Given the description of an element on the screen output the (x, y) to click on. 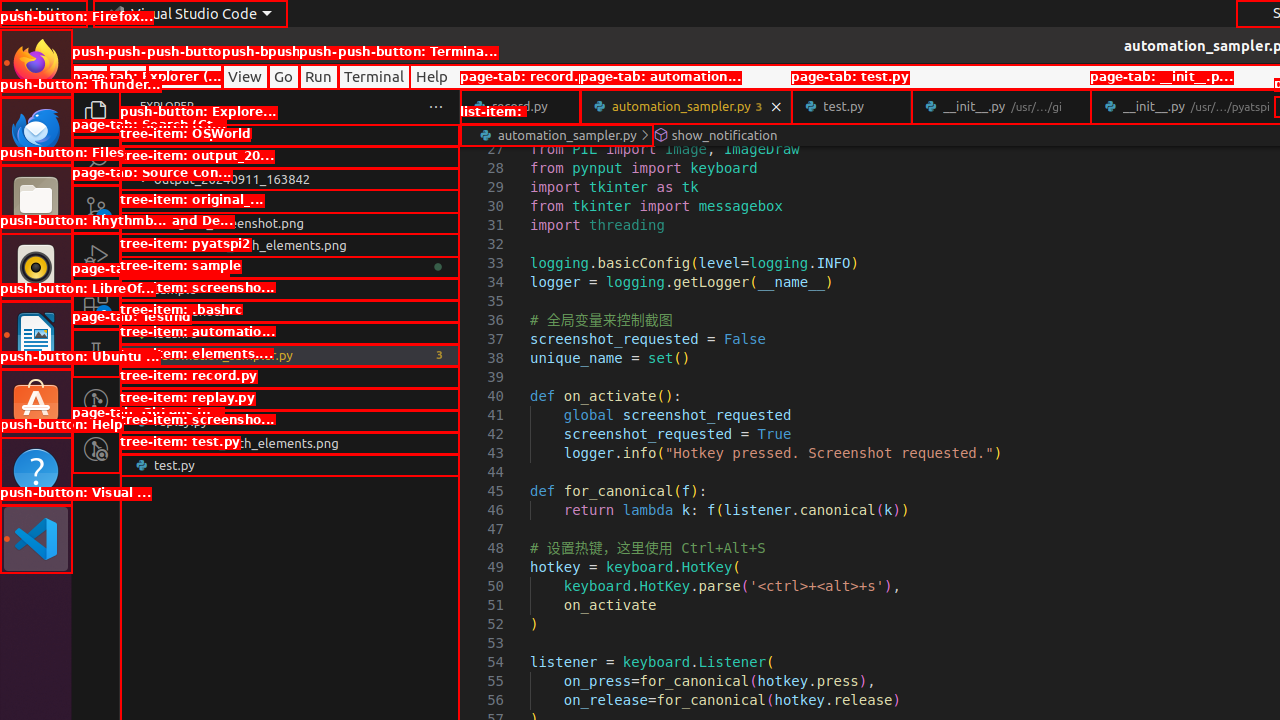
output_20240911_163842 Element type: tree-item (289, 179)
elements.json Element type: tree-item (289, 377)
